Given the description of an element on the screen output the (x, y) to click on. 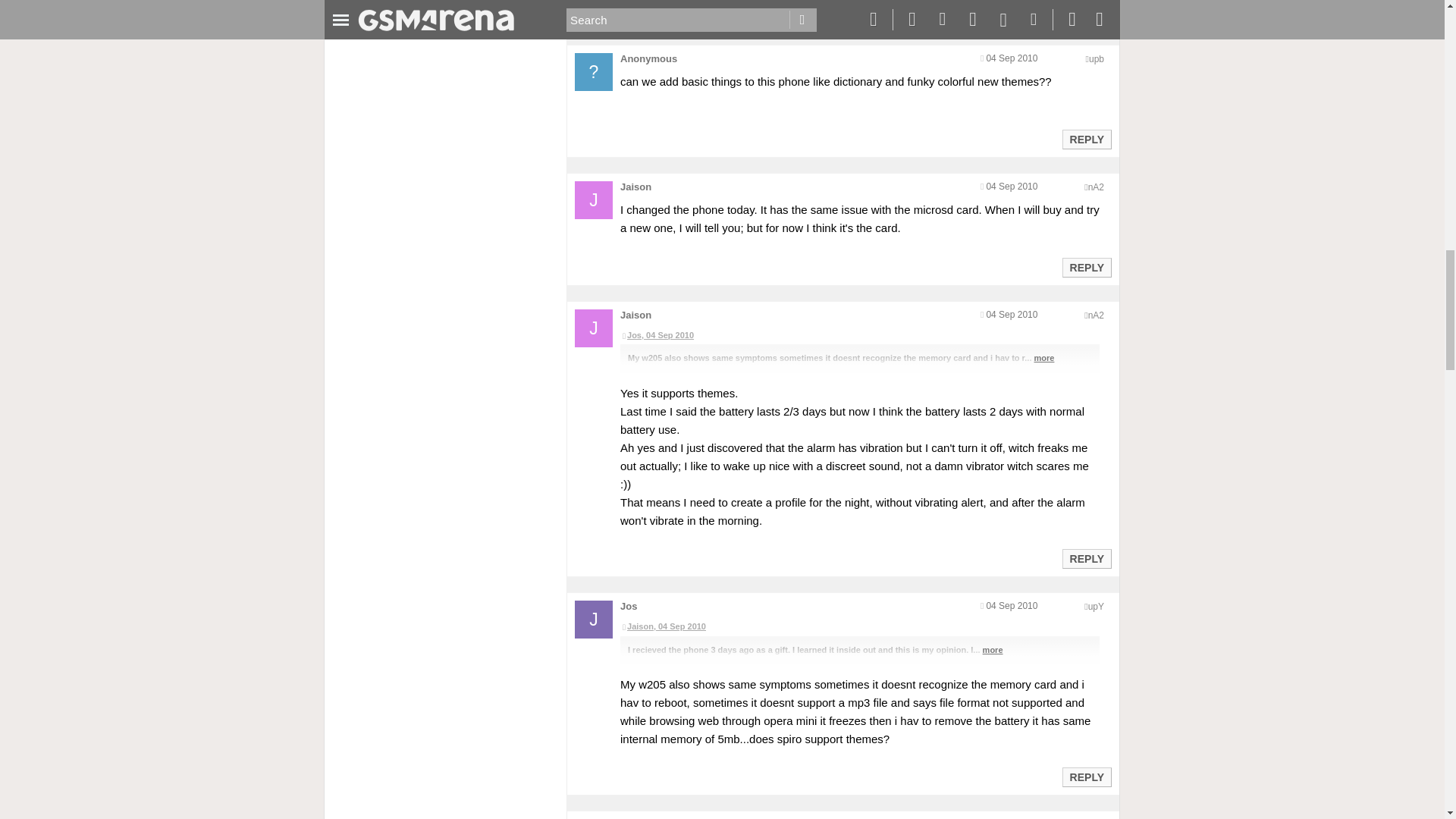
Encoded anonymized location (1096, 59)
Reply to this post (1086, 10)
Encoded anonymized location (1095, 186)
Reply to this post (1086, 139)
